Given the description of an element on the screen output the (x, y) to click on. 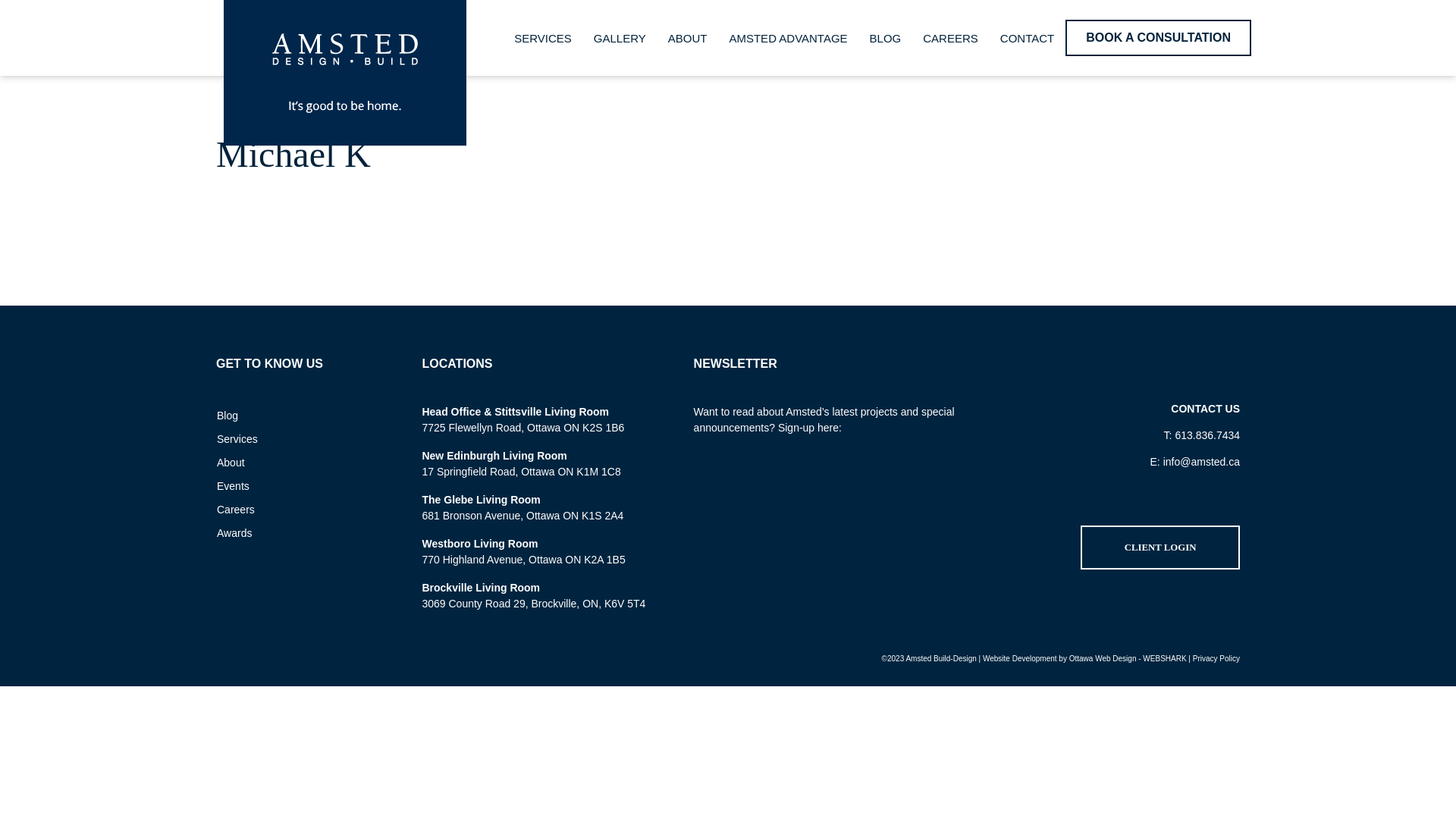
Brockville Living Room Element type: text (480, 587)
Careers Element type: text (294, 509)
Head Office & Stittsville Living Room Element type: text (514, 411)
Privacy Policy Element type: text (1215, 658)
WEBSHARK Element type: text (1164, 658)
About Element type: text (294, 462)
Events Element type: text (294, 485)
Awards Element type: text (294, 532)
CAREERS Element type: text (950, 37)
CLIENT LOGIN Element type: text (1159, 547)
Westboro Living Room Element type: text (479, 543)
Ottawa Web Design Element type: text (1102, 658)
GALLERY Element type: text (619, 37)
SERVICES Element type: text (542, 37)
AMSTED ADVANTAGE Element type: text (787, 37)
7725 Flewellyn Road, Ottawa ON K2S 1B6 Element type: text (522, 427)
770 Highland Avenue, Ottawa ON K2A 1B5 Element type: text (522, 559)
681 Bronson Avenue, Ottawa ON K1S 2A4 Element type: text (522, 515)
info@amsted.ca Element type: text (1201, 461)
BLOG Element type: text (885, 37)
BOOK A CONSULTATION Element type: text (1158, 37)
ABOUT Element type: text (687, 37)
New Edinburgh Living Room Element type: text (493, 455)
CONTACT Element type: text (1026, 37)
17 Springfield Road, Ottawa ON K1M 1C8 Element type: text (520, 471)
Blog Element type: text (294, 415)
Services Element type: text (294, 438)
The Glebe Living Room Element type: text (480, 499)
613.836.7434 Element type: text (1206, 435)
3069 County Road 29, Brockville, ON, K6V 5T4 Element type: text (533, 603)
